Given the description of an element on the screen output the (x, y) to click on. 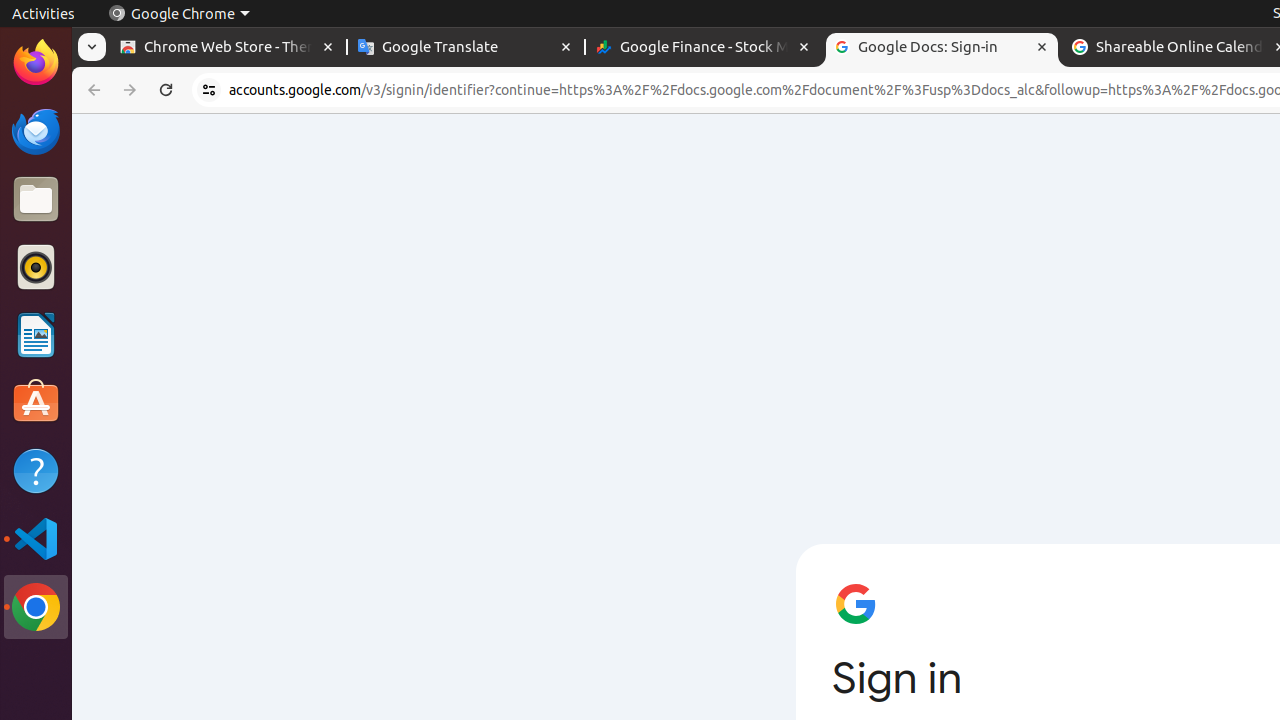
Forward Element type: push-button (130, 90)
Google Finance - Stock Market Prices, Real-time Quotes & Business News - Memory usage - 51.5 MB Element type: page-tab (704, 47)
